Given the description of an element on the screen output the (x, y) to click on. 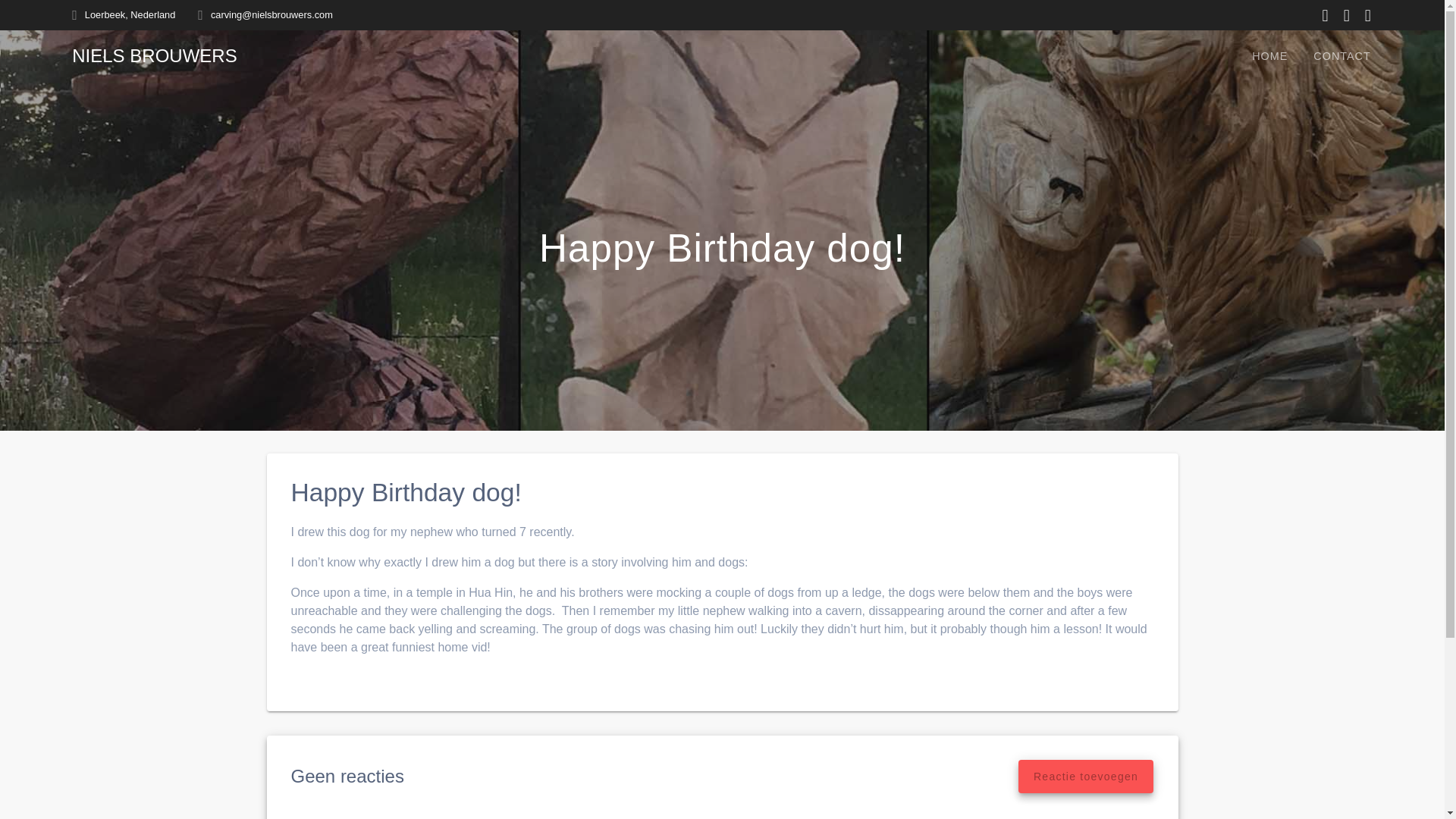
HOME (1269, 56)
NIELS BROUWERS (153, 55)
Reactie toevoegen (1085, 776)
CONTACT (1341, 56)
